Given the description of an element on the screen output the (x, y) to click on. 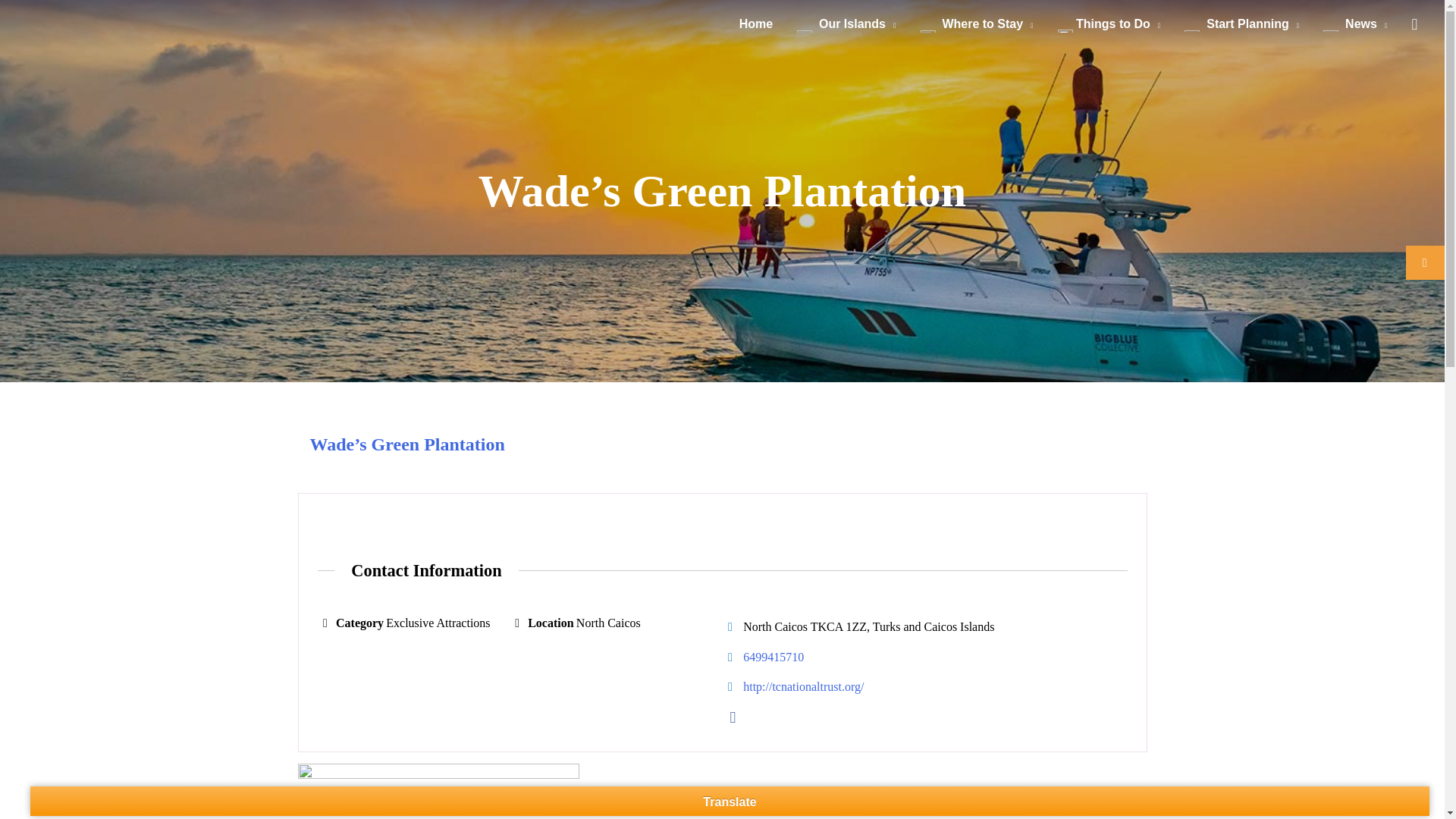
Facebook (732, 716)
Home (755, 24)
  Our Islands (845, 24)
  Where to Stay (976, 24)
